Given the description of an element on the screen output the (x, y) to click on. 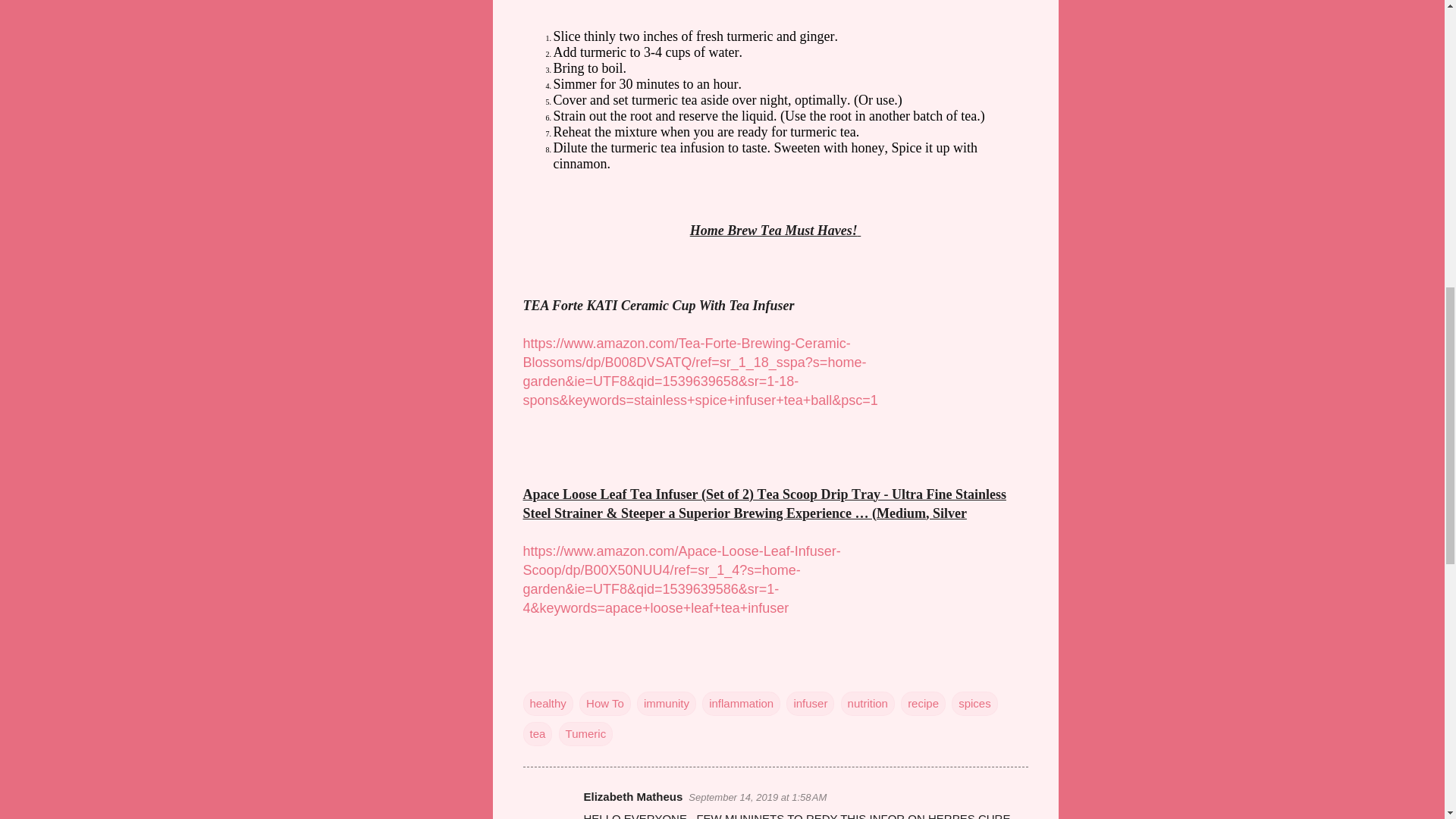
Elizabeth Matheus (632, 796)
healthy (547, 703)
nutrition (868, 703)
inflammation (740, 703)
immunity (666, 703)
How To (604, 703)
spices (974, 703)
infuser (810, 703)
tea (537, 733)
